Given the description of an element on the screen output the (x, y) to click on. 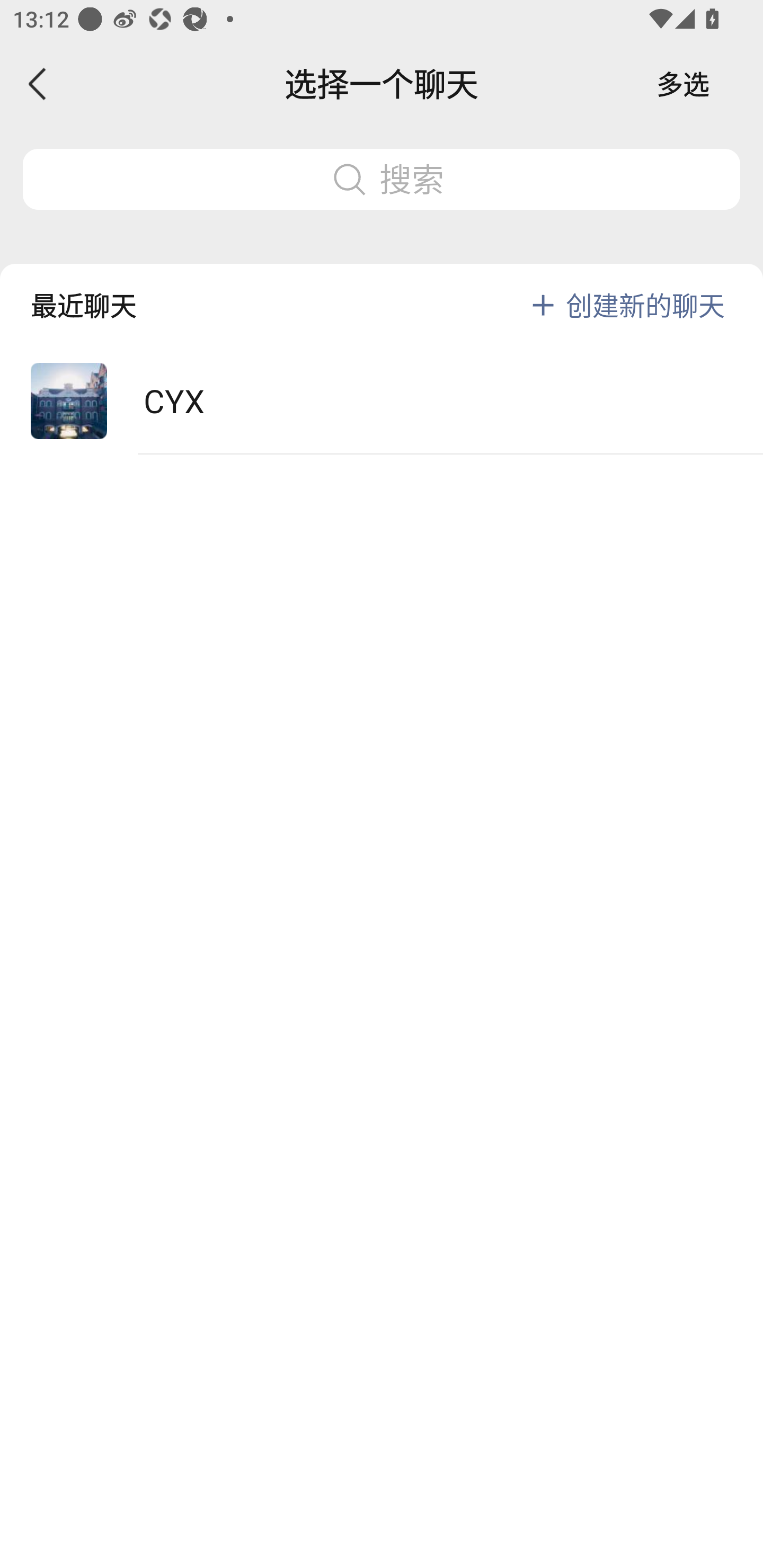
返回 (38, 83)
多选 (683, 83)
创建新的聊天 (645, 304)
CYX (381, 401)
